Given the description of an element on the screen output the (x, y) to click on. 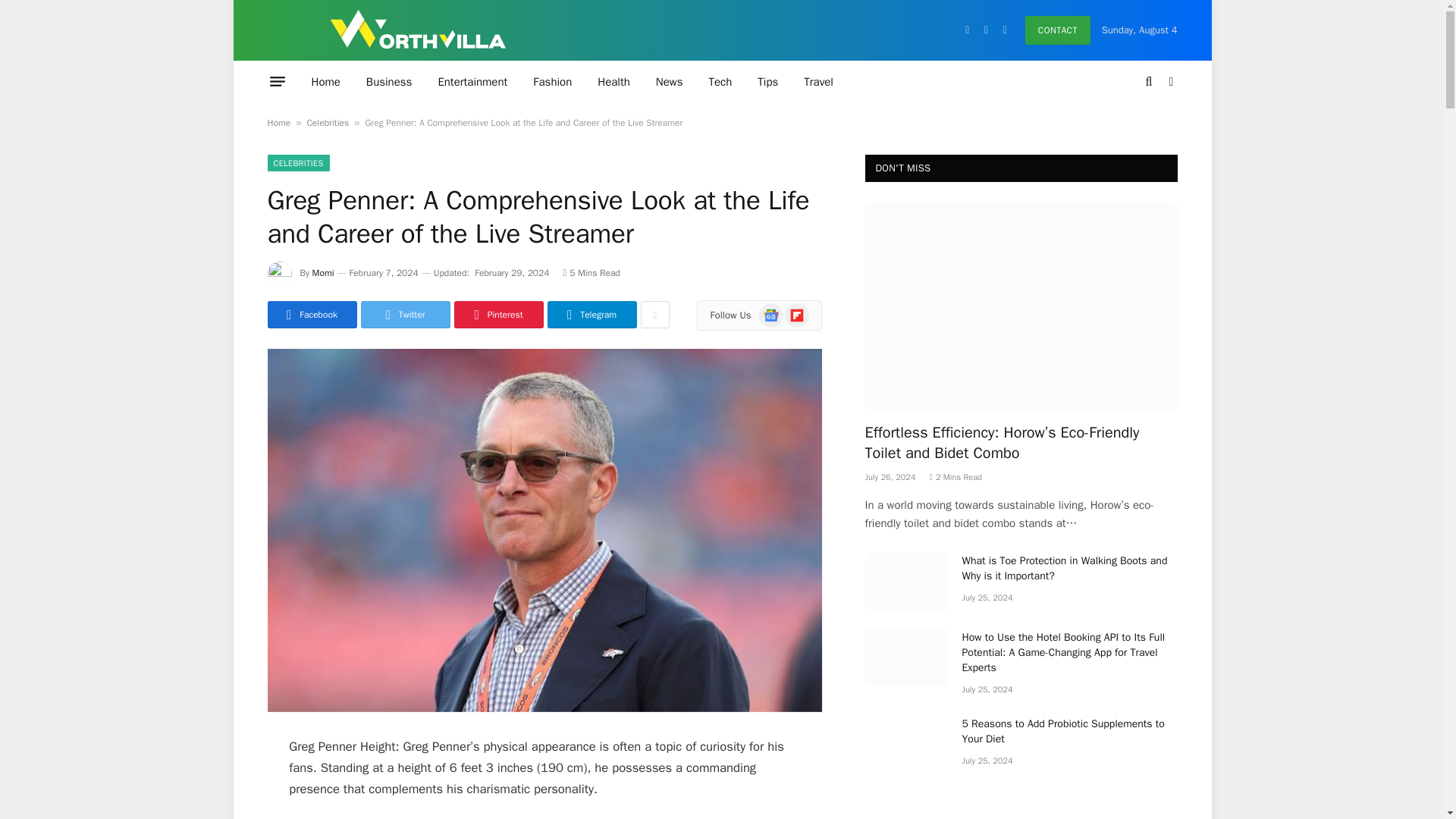
Business (389, 81)
Share on Facebook (311, 314)
Instagram (1004, 30)
Posts by Momi (323, 272)
WorthVilla (416, 30)
News (669, 81)
Travel (817, 81)
Share on Pinterest (497, 314)
Search (1149, 81)
Entertainment (472, 81)
Health (614, 81)
Tech (719, 81)
Home (325, 81)
CONTACT (1057, 30)
